Given the description of an element on the screen output the (x, y) to click on. 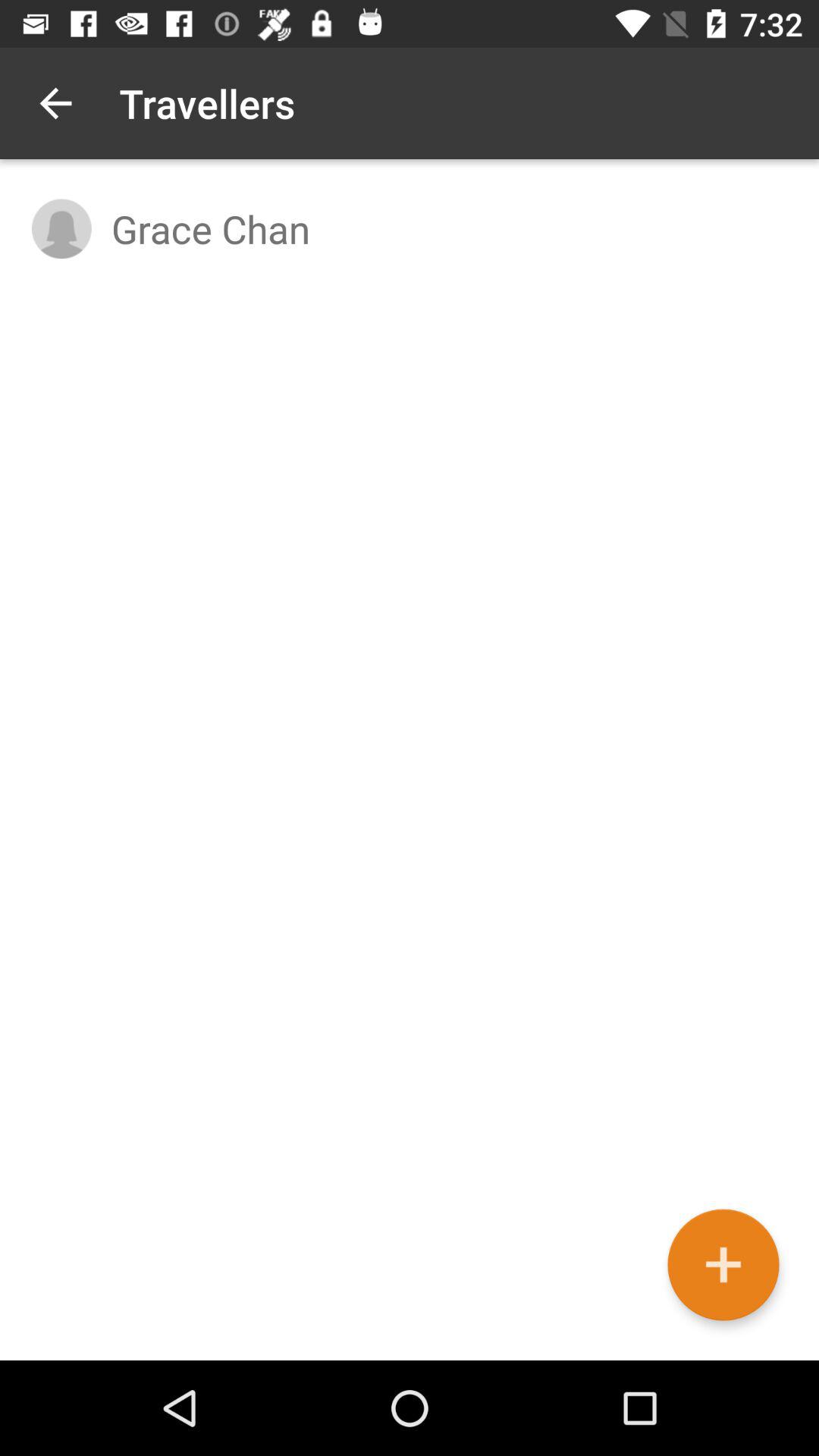
click the grace chan (449, 228)
